Given the description of an element on the screen output the (x, y) to click on. 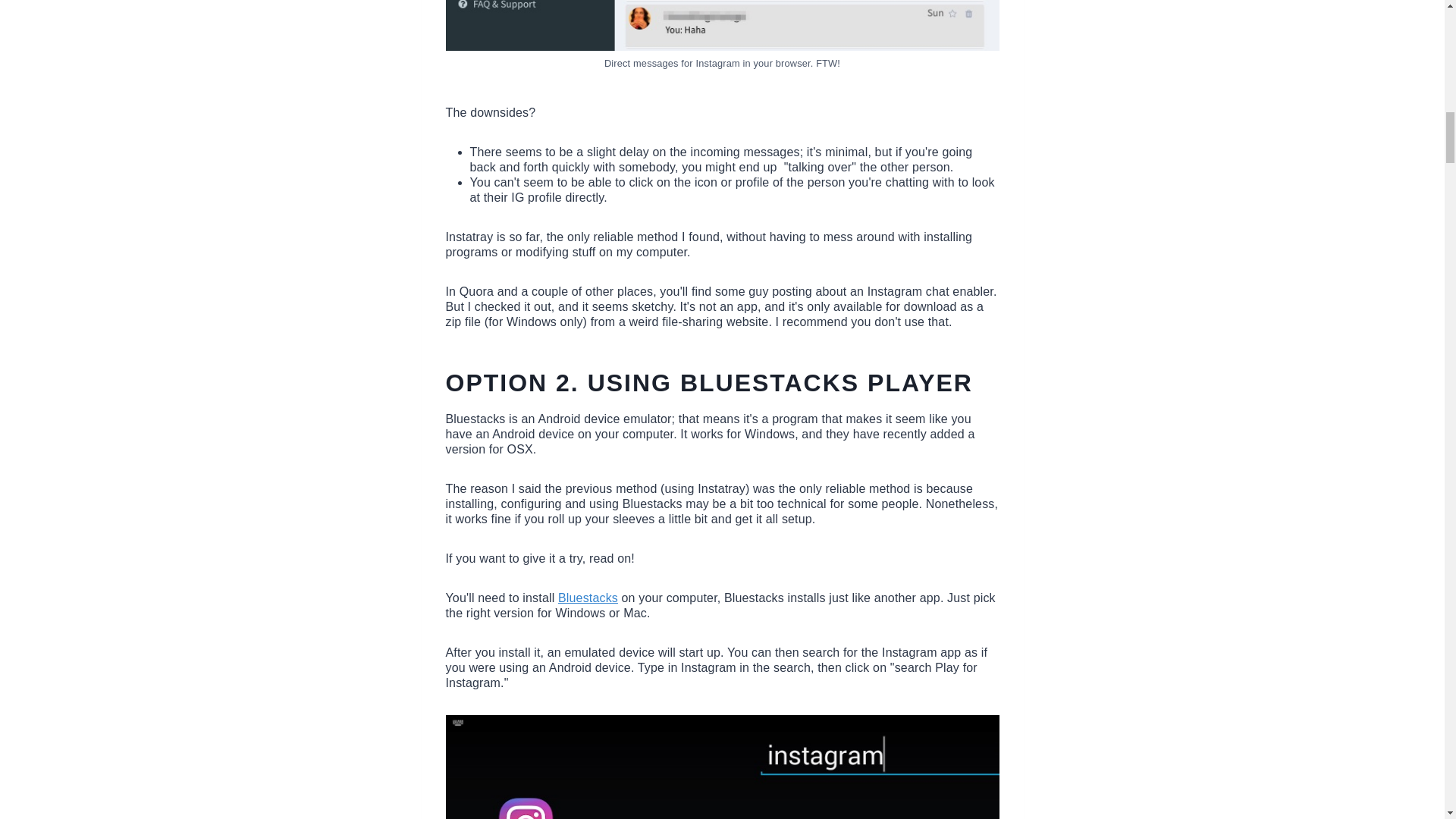
Bluestacks (587, 597)
